Given the description of an element on the screen output the (x, y) to click on. 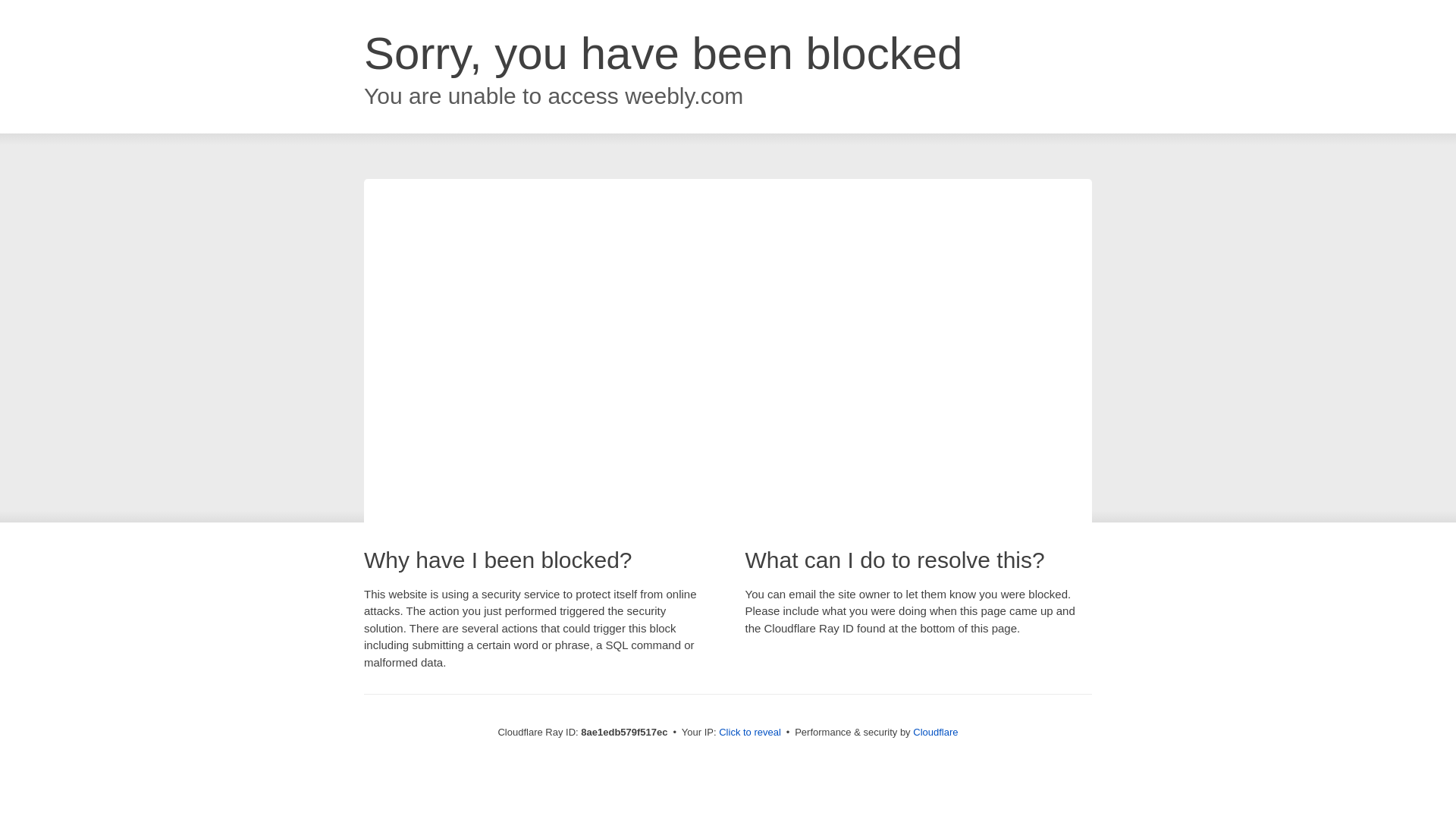
Click to reveal (749, 732)
Cloudflare (935, 731)
